Given the description of an element on the screen output the (x, y) to click on. 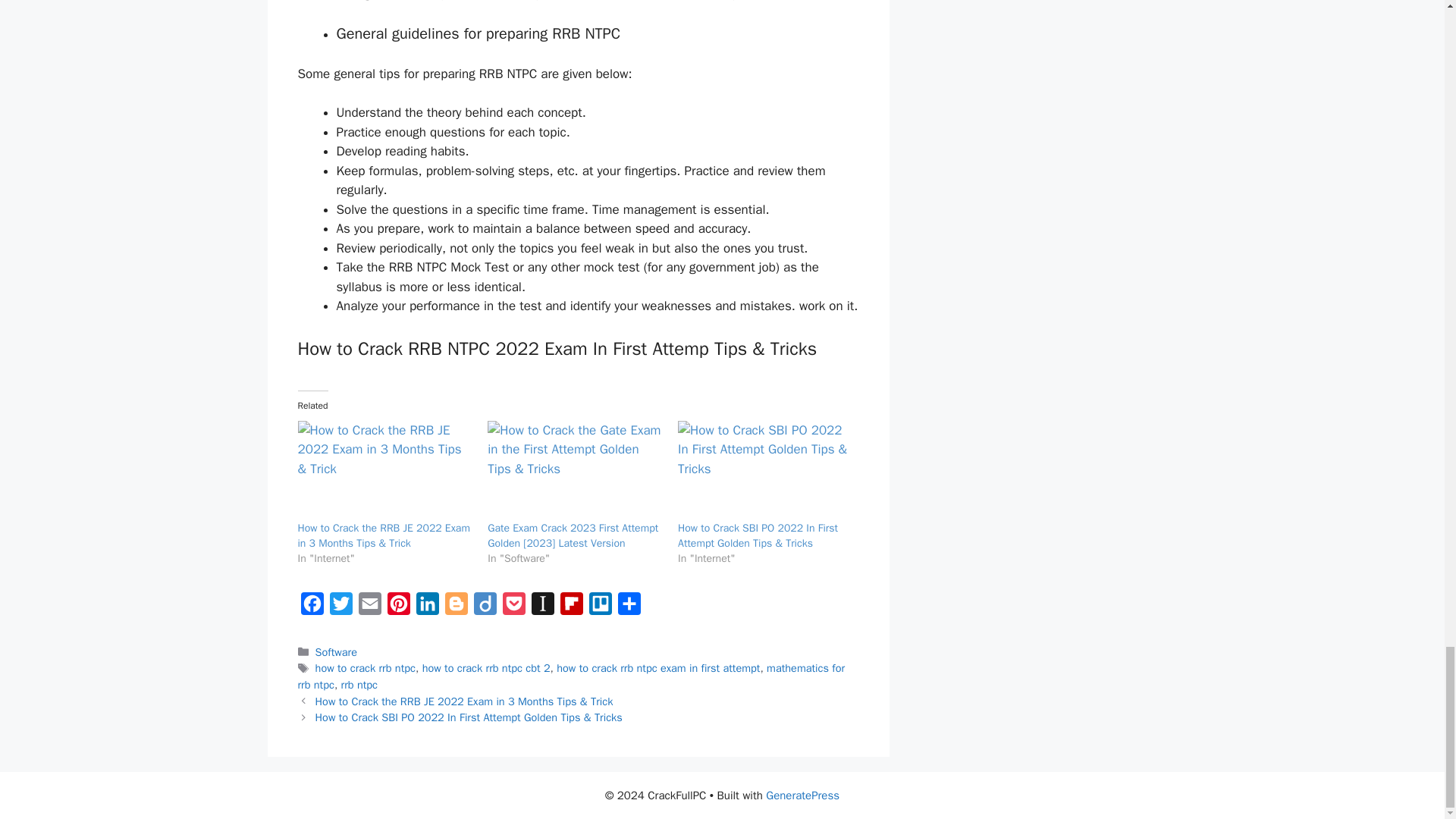
Facebook (311, 607)
Email (369, 607)
Instapaper (541, 607)
Pinterest (398, 607)
Software (335, 652)
how to crack rrb ntpc (364, 667)
Pocket (513, 607)
Facebook (311, 607)
Twitter (340, 607)
how to crack rrb ntpc cbt 2 (486, 667)
